Given the description of an element on the screen output the (x, y) to click on. 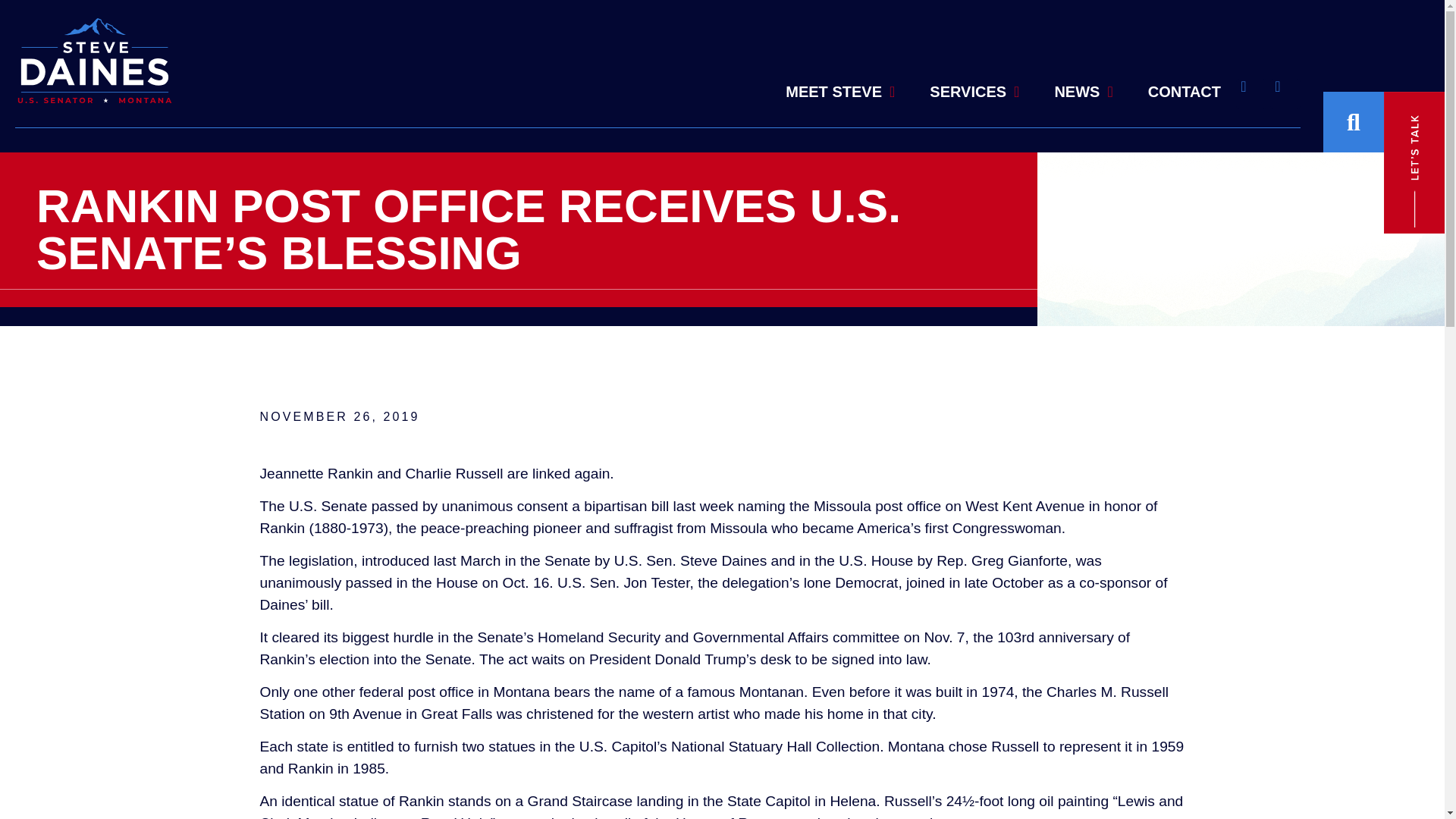
NEWS (1082, 86)
MEET STEVE (840, 58)
SERVICES (973, 63)
CONTACT (1184, 89)
